Given the description of an element on the screen output the (x, y) to click on. 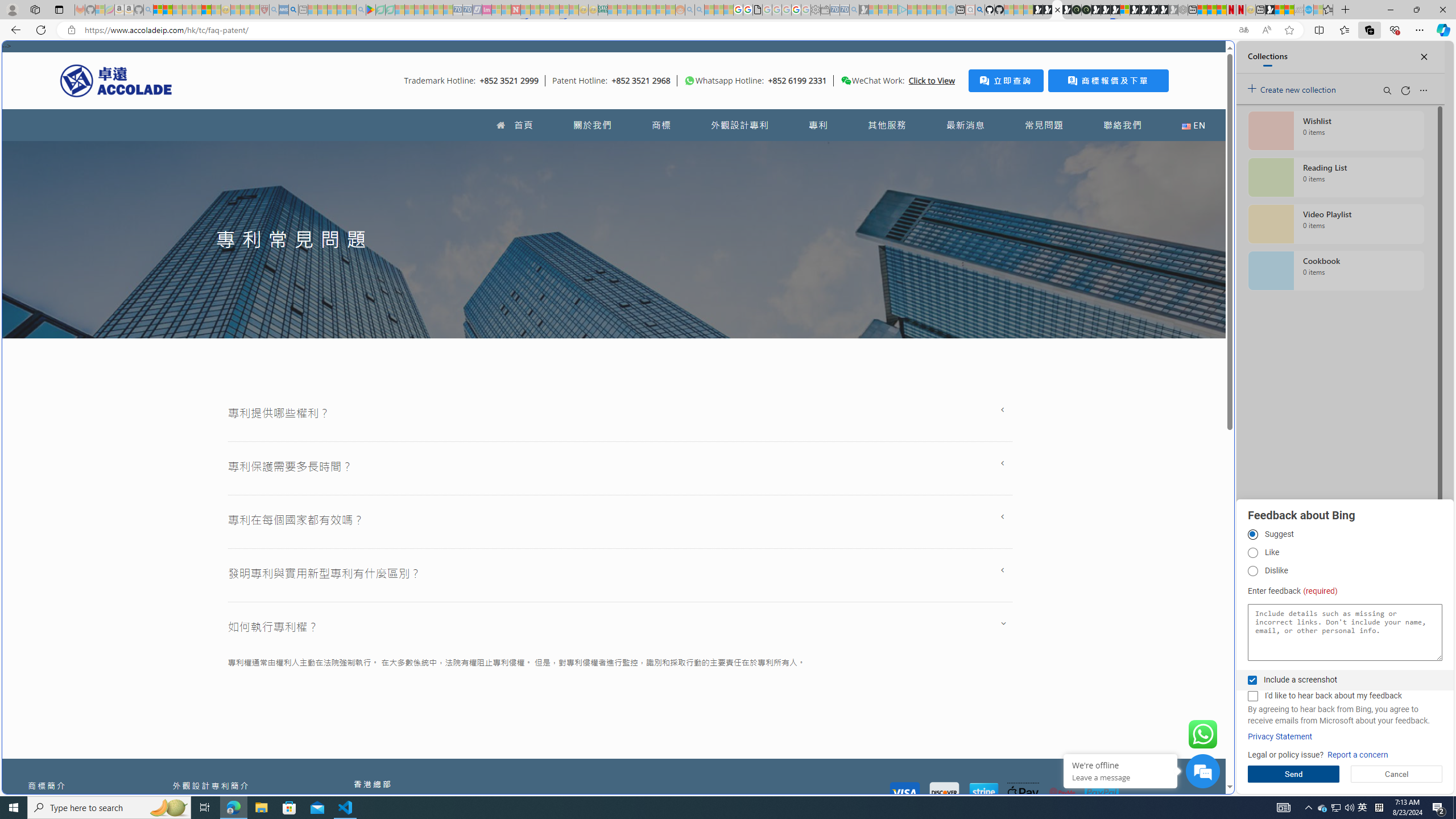
Cancel (1396, 773)
EN (1193, 124)
